Given the description of an element on the screen output the (x, y) to click on. 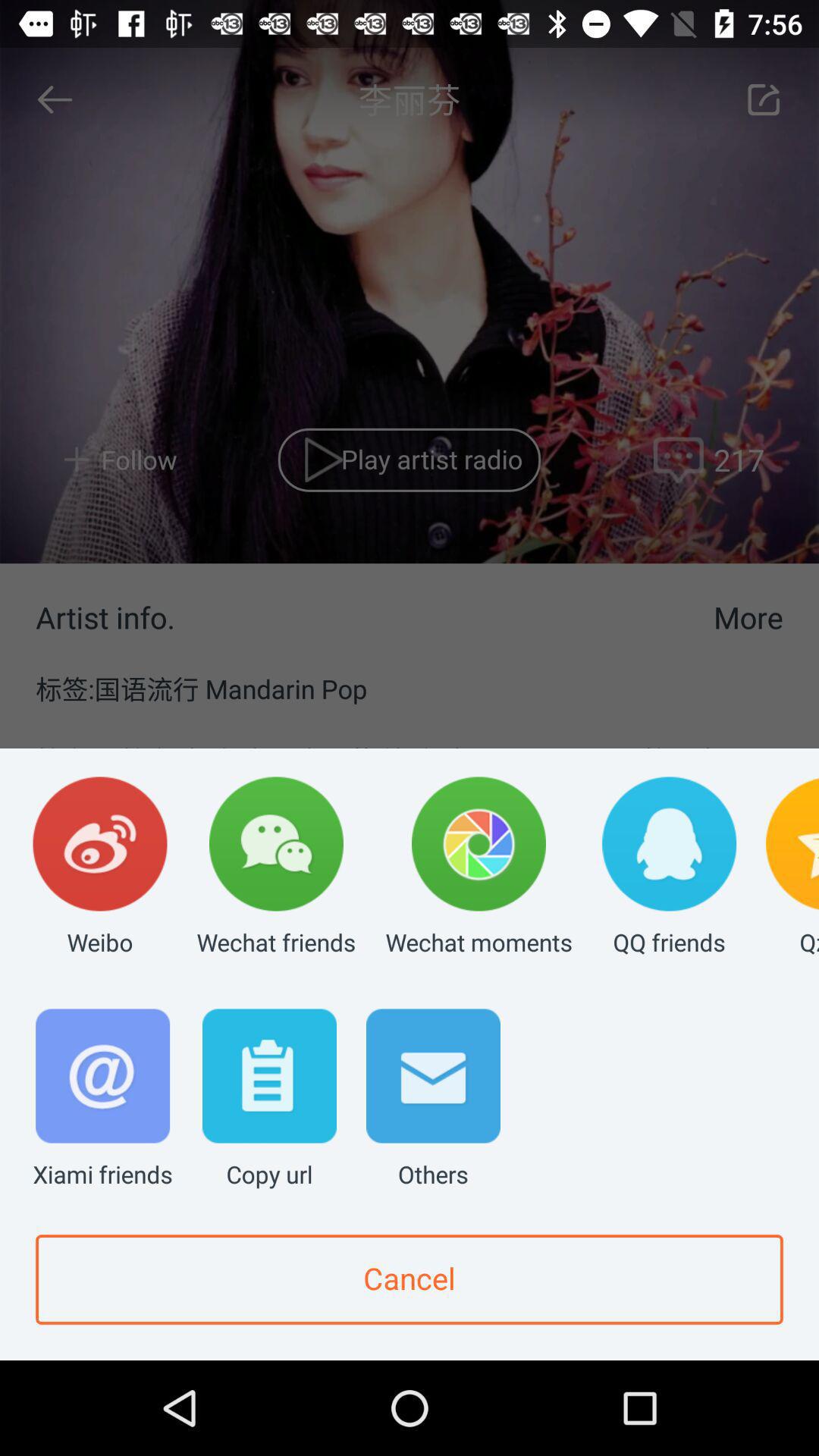
swipe to others (433, 1099)
